Given the description of an element on the screen output the (x, y) to click on. 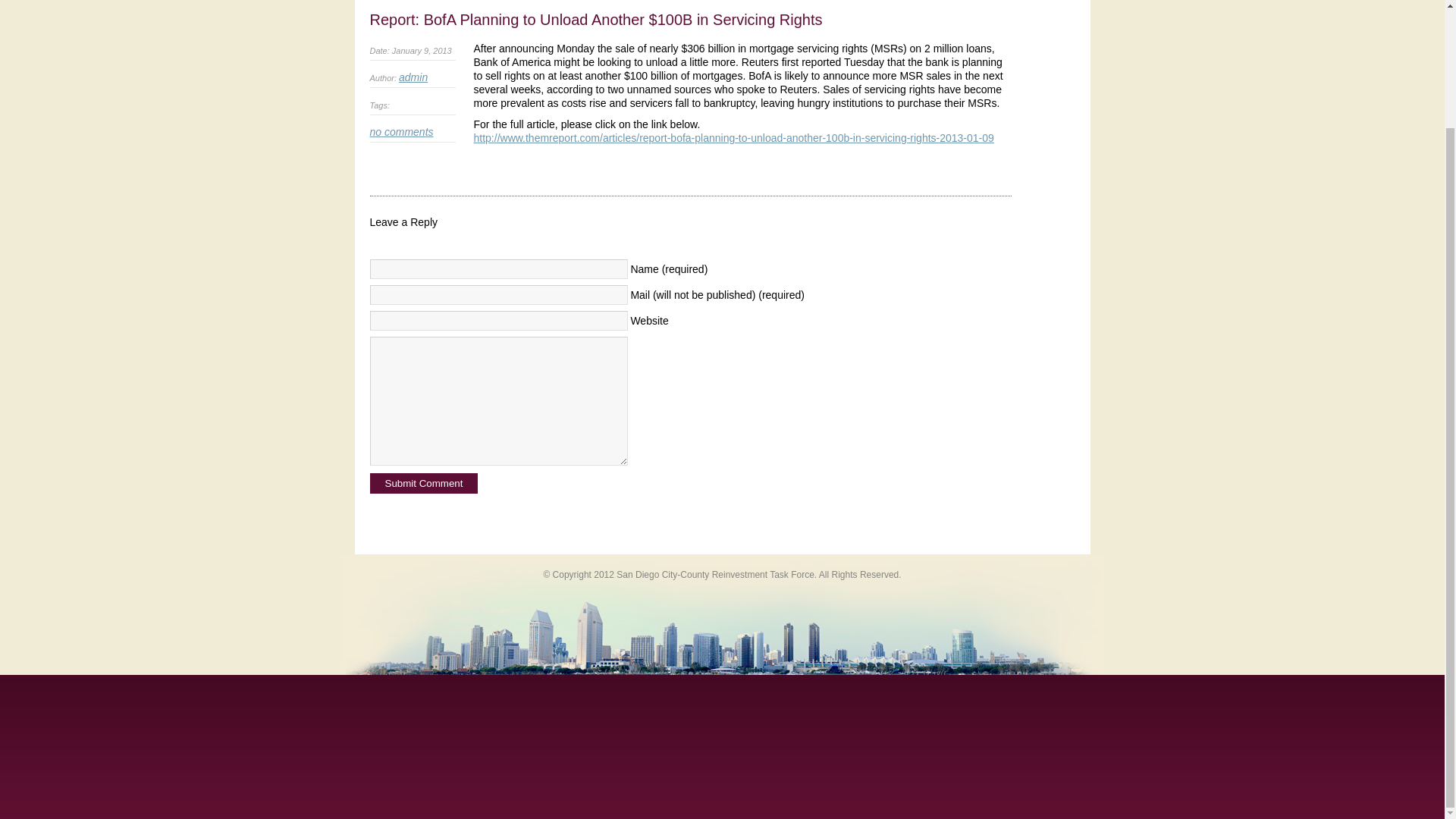
Submit Comment (424, 483)
Submit Comment (424, 483)
no comments (401, 132)
admin (413, 77)
